Given the description of an element on the screen output the (x, y) to click on. 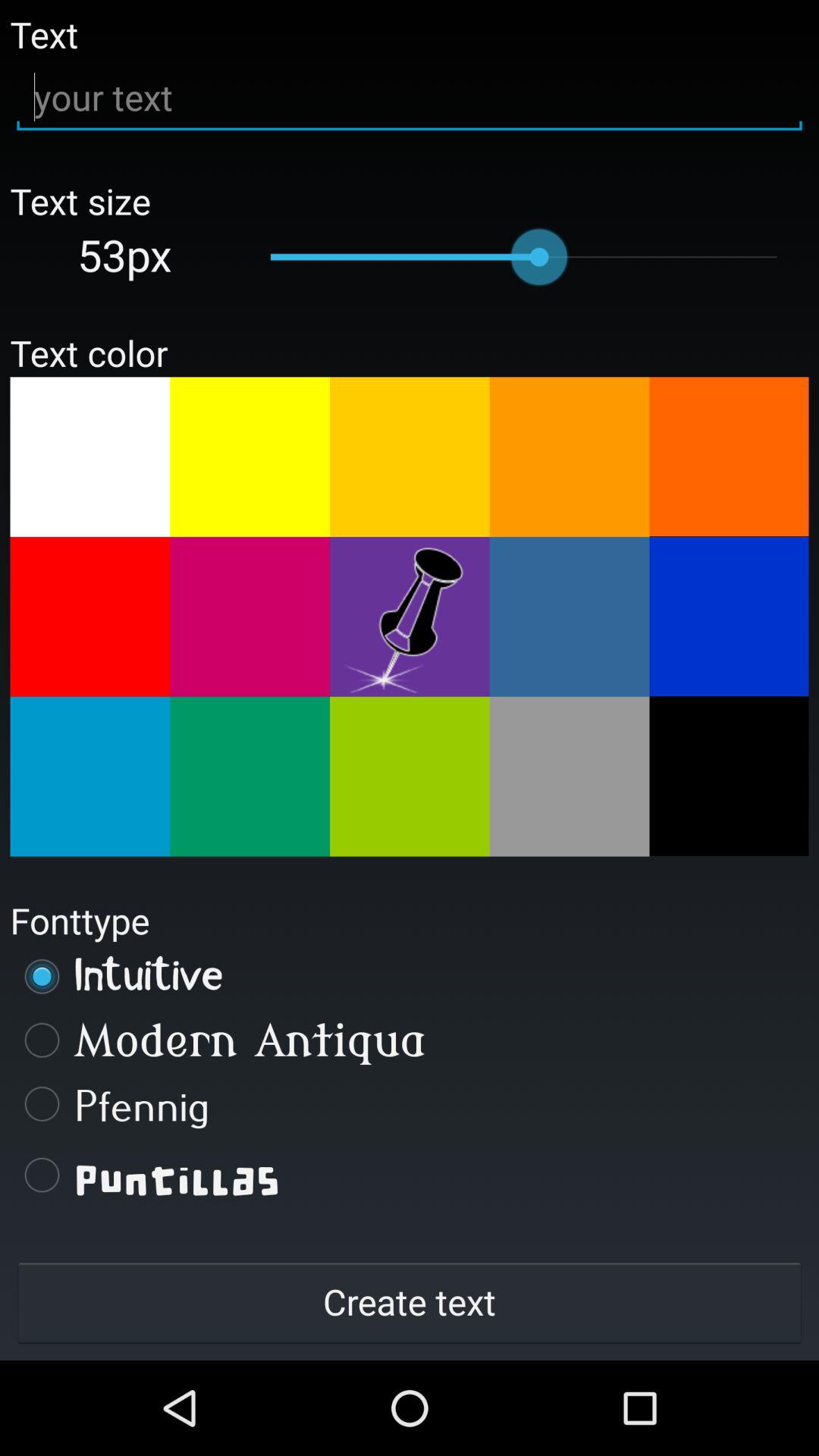
selects black for the text color (728, 775)
